Given the description of an element on the screen output the (x, y) to click on. 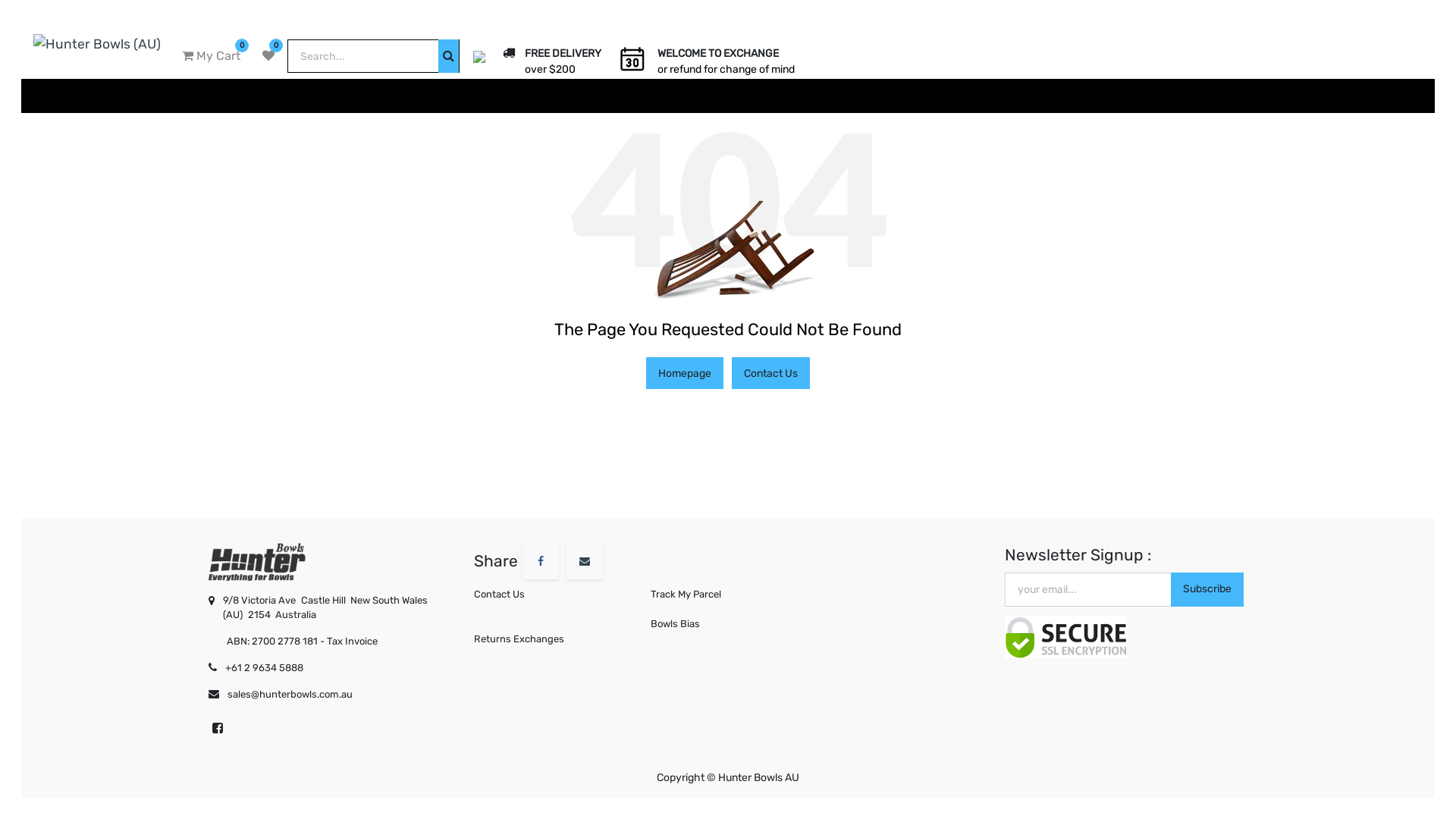
Hunter Bowls (AU) Element type: hover (96, 42)
+61 2 9634 5888 Element type: text (331, 667)
Contact Us Element type: text (770, 373)
Contact Us Element type: text (550, 594)
Track My Parcel Element type: text (727, 594)
Hunter Bowls (AU) Element type: hover (256, 560)
Homepage Element type: text (684, 373)
  Element type: text (209, 761)
Subscribe Element type: text (1206, 589)
Search Element type: hover (448, 56)
Returns Exchanges Element type: text (550, 638)
0 Element type: text (268, 56)
  Element type: text (727, 653)
sales@hunterbowls.com.au Element type: text (333, 693)
My Cart
0 Element type: text (210, 56)
Bowls Bias Element type: text (727, 623)
